Given the description of an element on the screen output the (x, y) to click on. 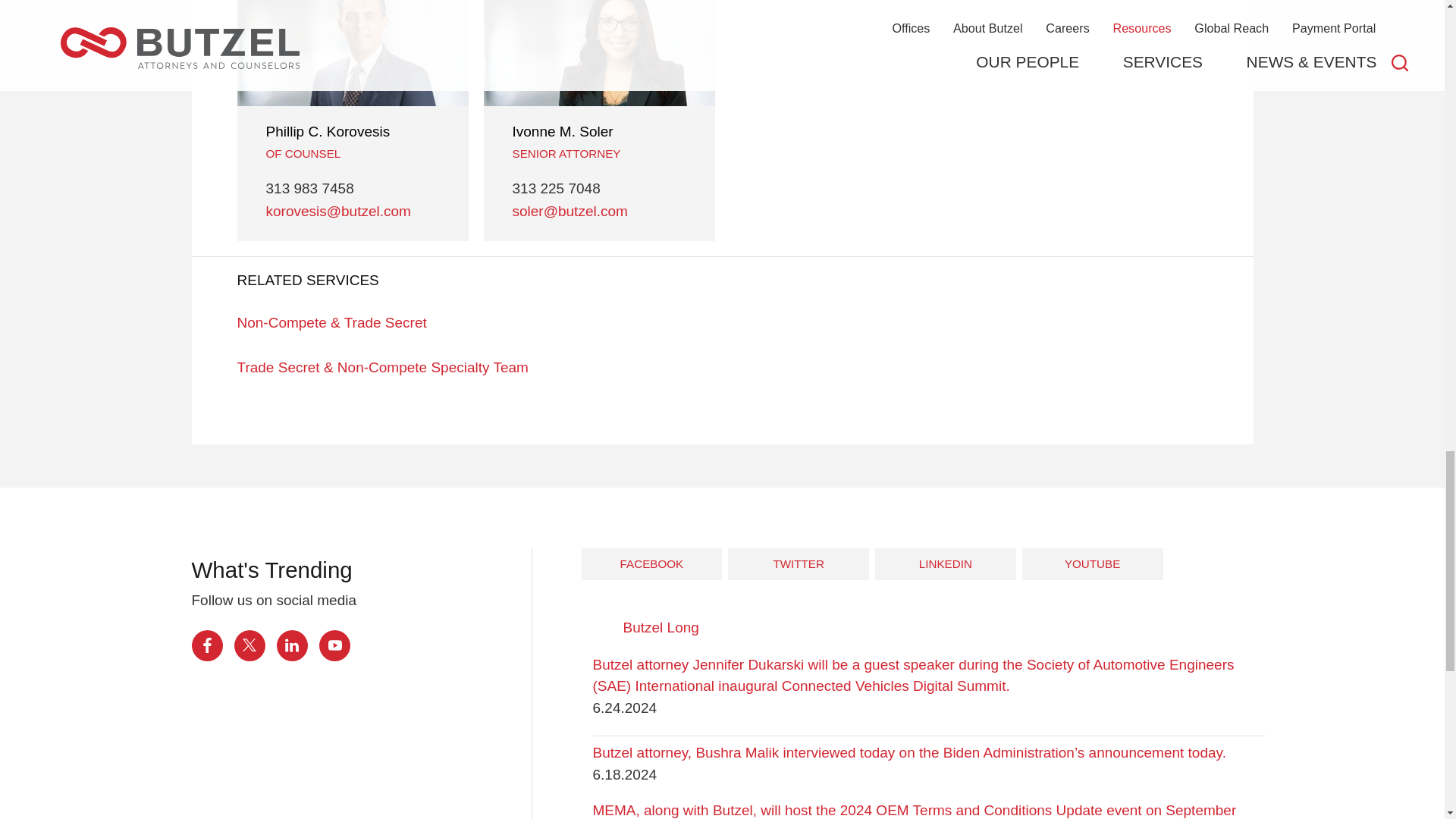
YouTube (334, 644)
X (249, 644)
Facebook (206, 644)
LinkedIn (291, 644)
